Given the description of an element on the screen output the (x, y) to click on. 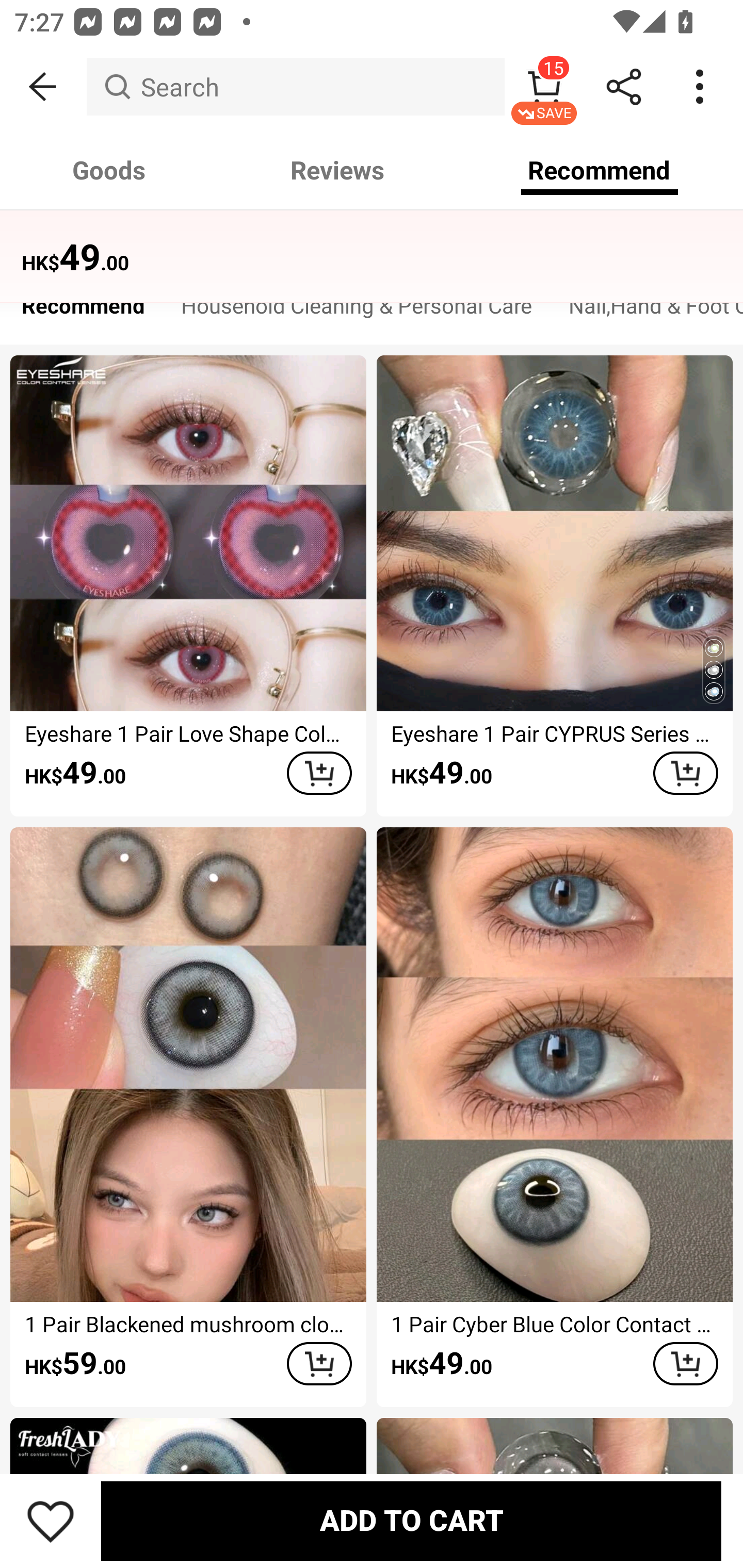
BACK (43, 86)
15 SAVE (543, 87)
Search (295, 87)
Goods (109, 170)
Reviews (337, 170)
Recommend (599, 170)
You May Also Like (371, 244)
Recommend (82, 310)
Household Cleaning & Personal Care (356, 310)
Nail,Hand & Foot Care (646, 310)
ADD TO CART (319, 772)
ADD TO CART (685, 772)
ADD TO CART (319, 1364)
ADD TO CART (685, 1364)
ADD TO CART (411, 1520)
Save (50, 1520)
